Given the description of an element on the screen output the (x, y) to click on. 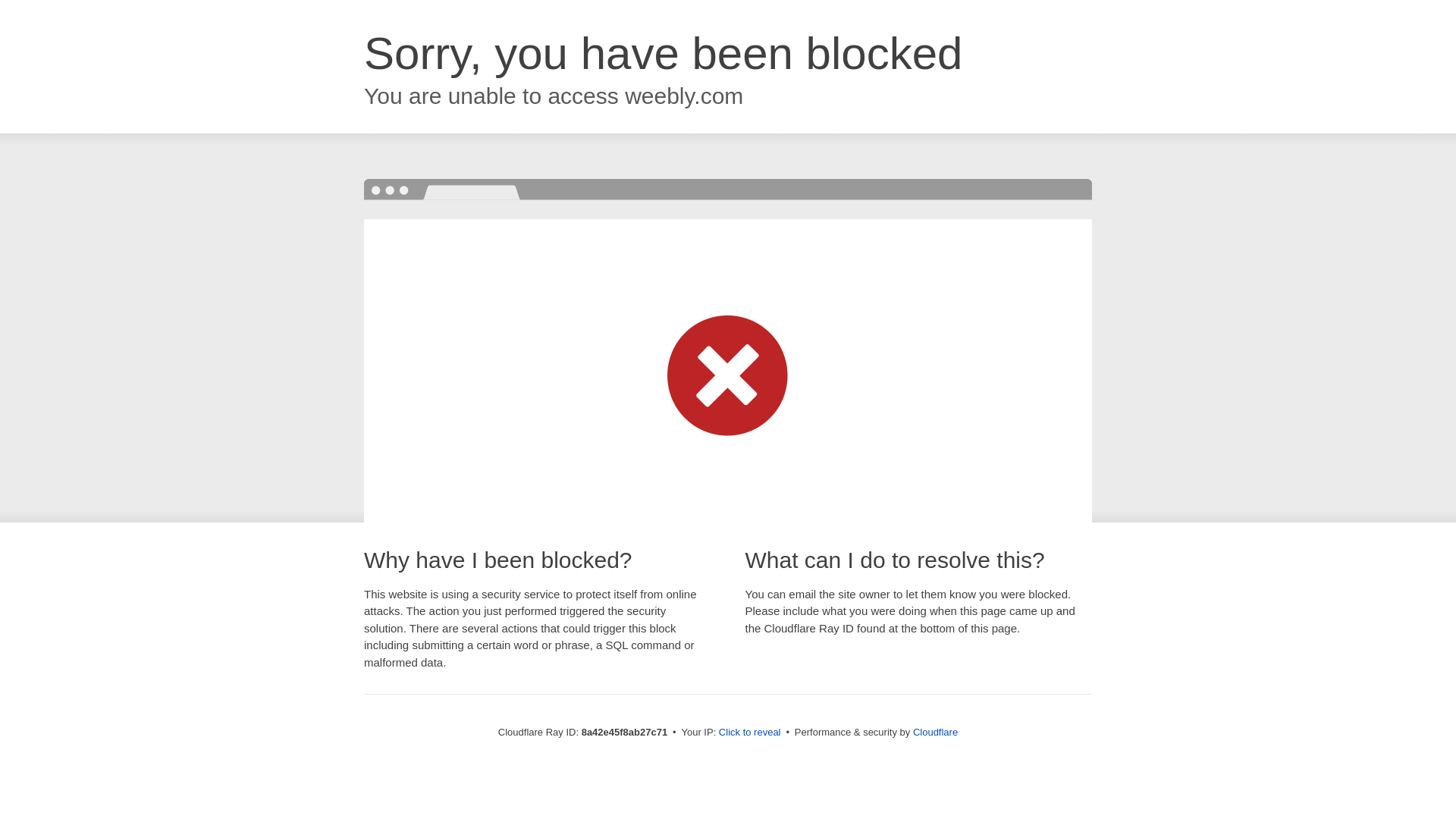
Click to reveal (749, 732)
Cloudflare (935, 731)
